Given the description of an element on the screen output the (x, y) to click on. 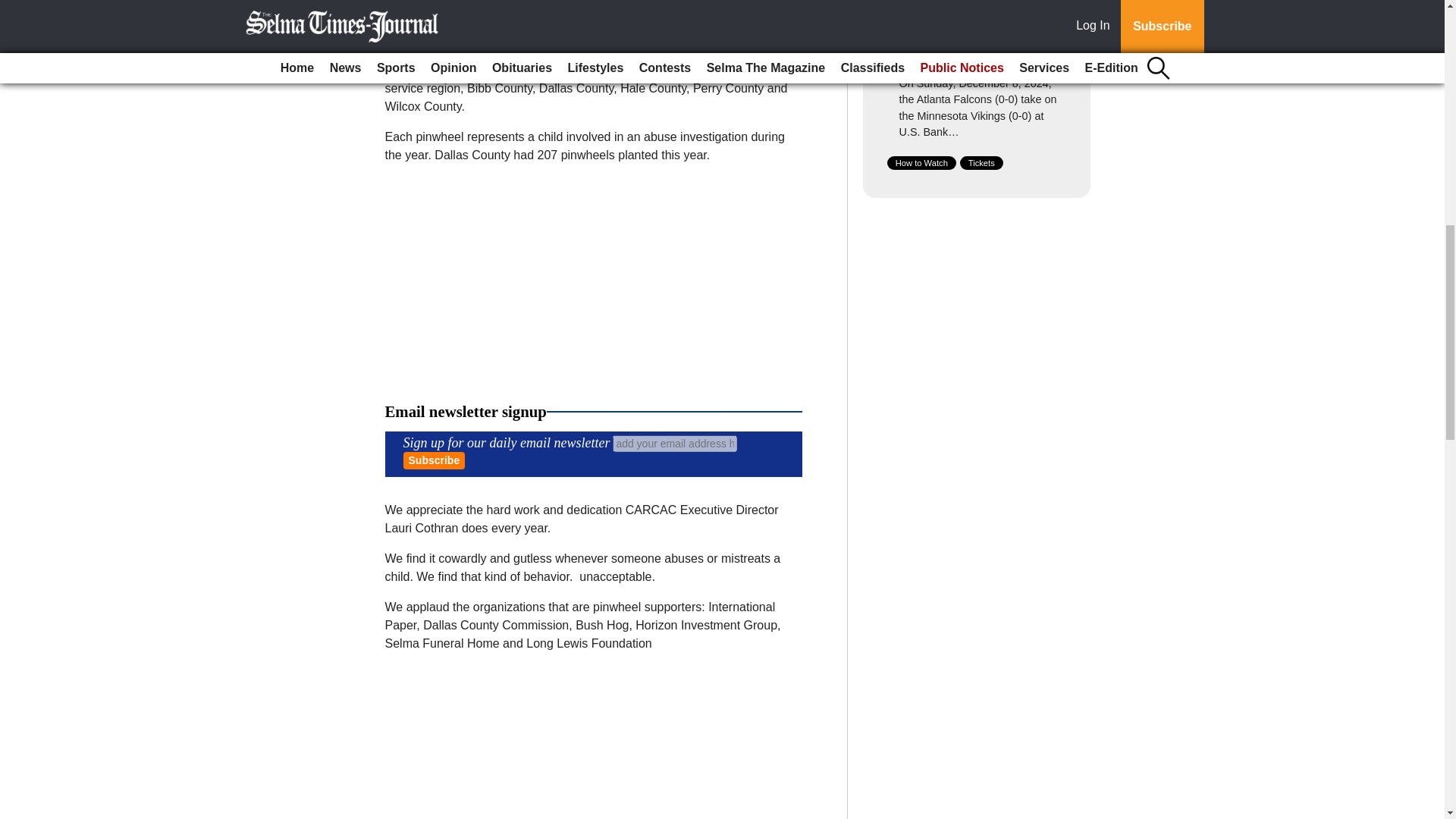
Subscribe (434, 460)
Subscribe (434, 460)
